Given the description of an element on the screen output the (x, y) to click on. 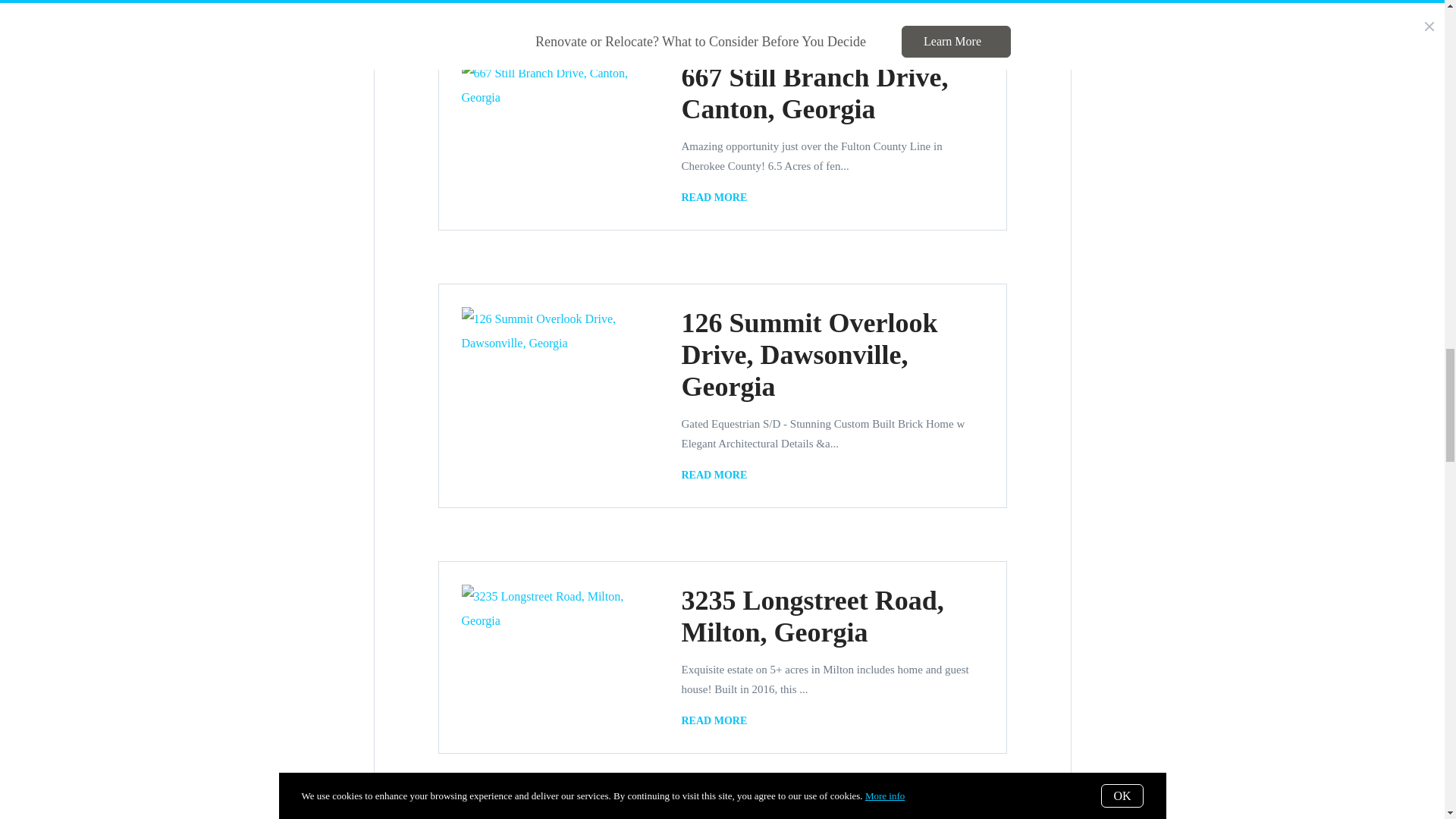
3235 Longstreet Road, Milton, Georgia (812, 616)
126 Summit Overlook Drive, Dawsonville, Georgia (809, 354)
126 Summit Overlook Drive, Dawsonville, Georgia (717, 475)
3235 Longstreet Road, Milton, Georgia (717, 720)
667 Still Branch Drive, Canton, Georgia (814, 93)
667 Still Branch Drive, Canton, Georgia (717, 198)
